Given the description of an element on the screen output the (x, y) to click on. 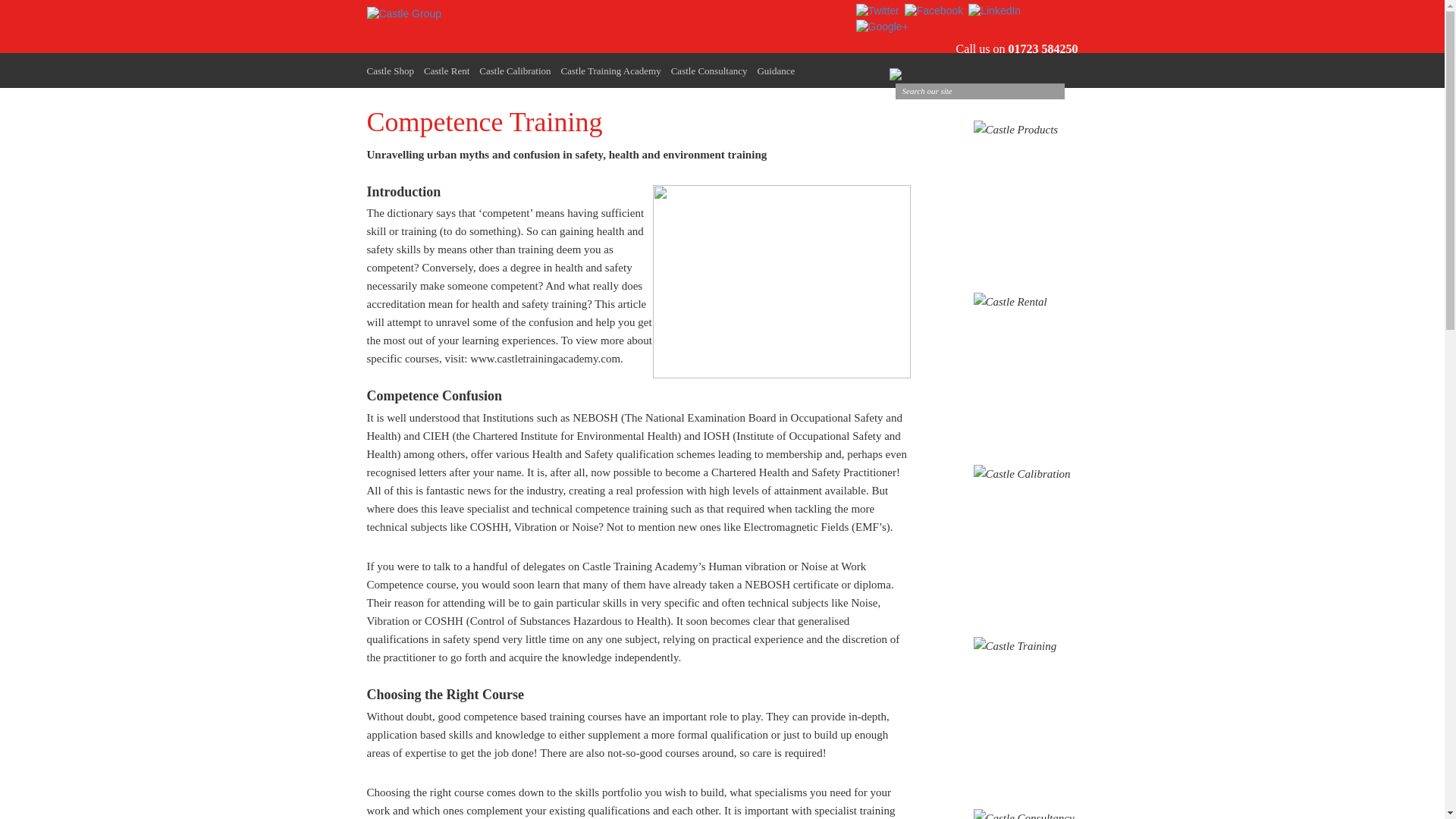
Castle Rent (445, 70)
Castle Consultancy (709, 70)
Castle Training Academy (610, 70)
Castle Shop (389, 70)
Castle Training (781, 281)
LinkedIn (994, 10)
Castle Calibration (514, 70)
Castle Group (403, 14)
